Given the description of an element on the screen output the (x, y) to click on. 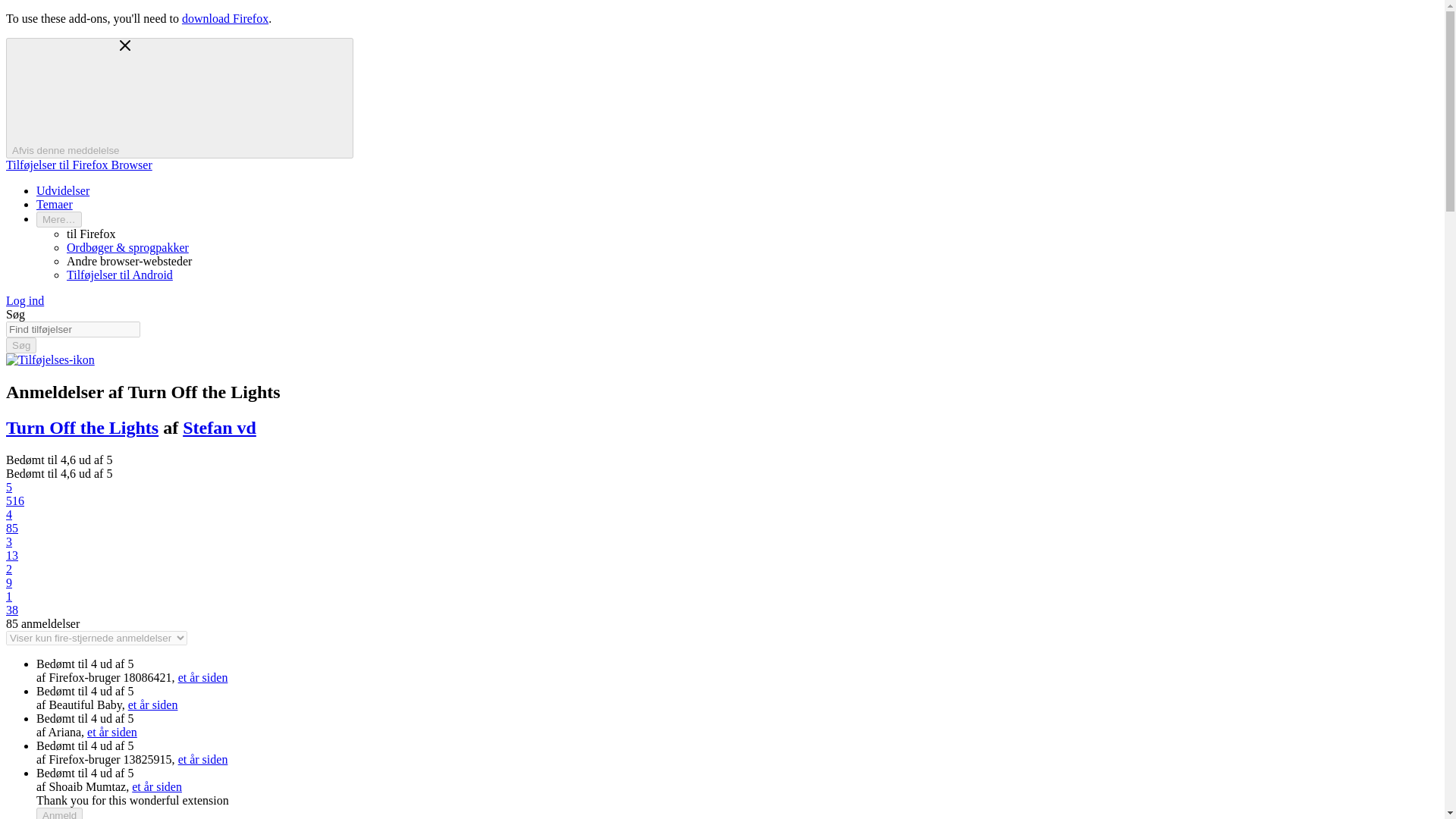
Temaer (54, 204)
Log ind (24, 300)
download Firefox (224, 18)
Udvidelser (62, 190)
Turn Off the Lights (81, 427)
Afvis denne meddelelse (179, 97)
Stefan vd (219, 427)
10. okt 2023 16:20 (202, 676)
Anmeld (59, 813)
